Given the description of an element on the screen output the (x, y) to click on. 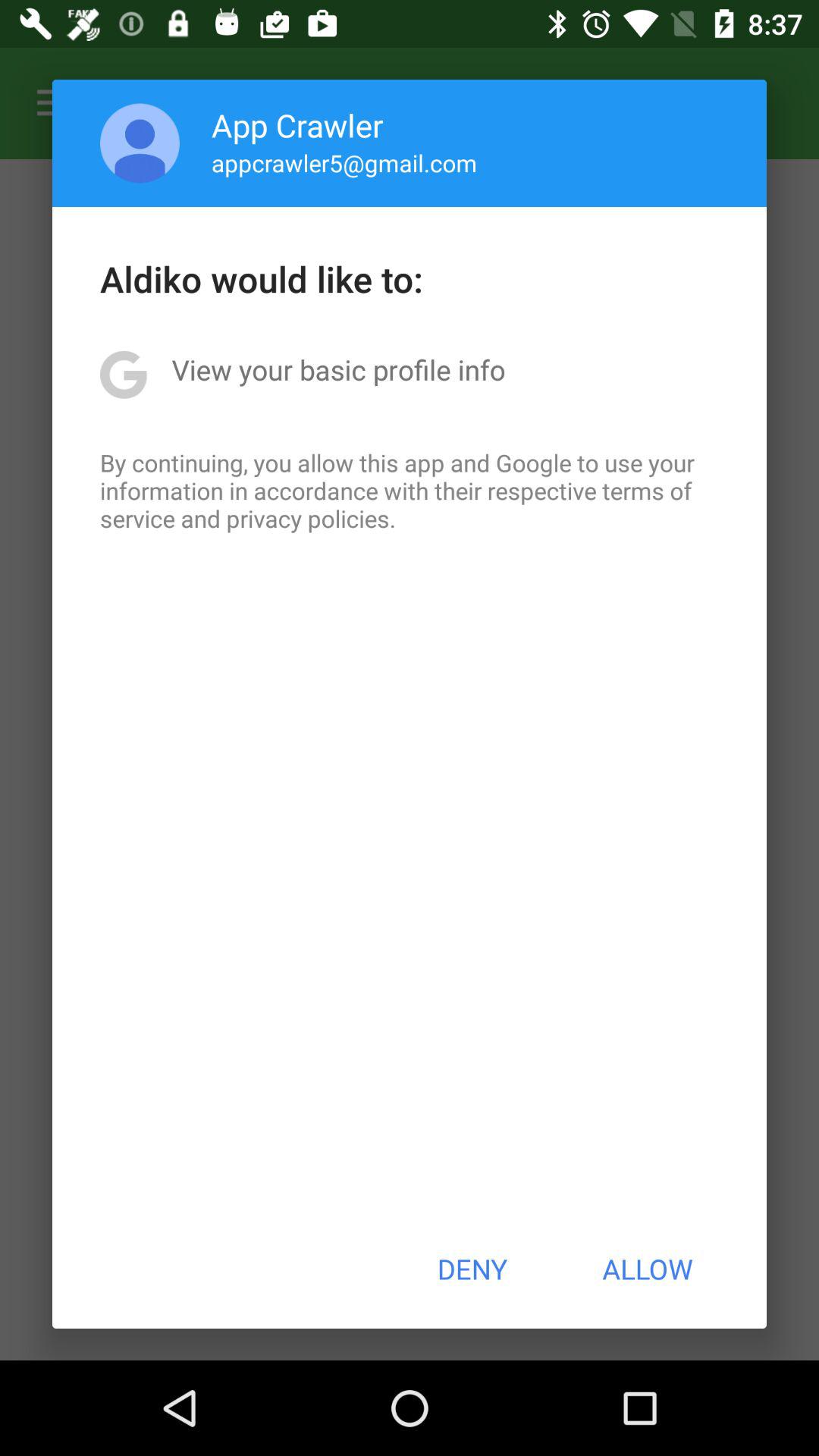
tap appcrawler5@gmail.com (344, 162)
